Given the description of an element on the screen output the (x, y) to click on. 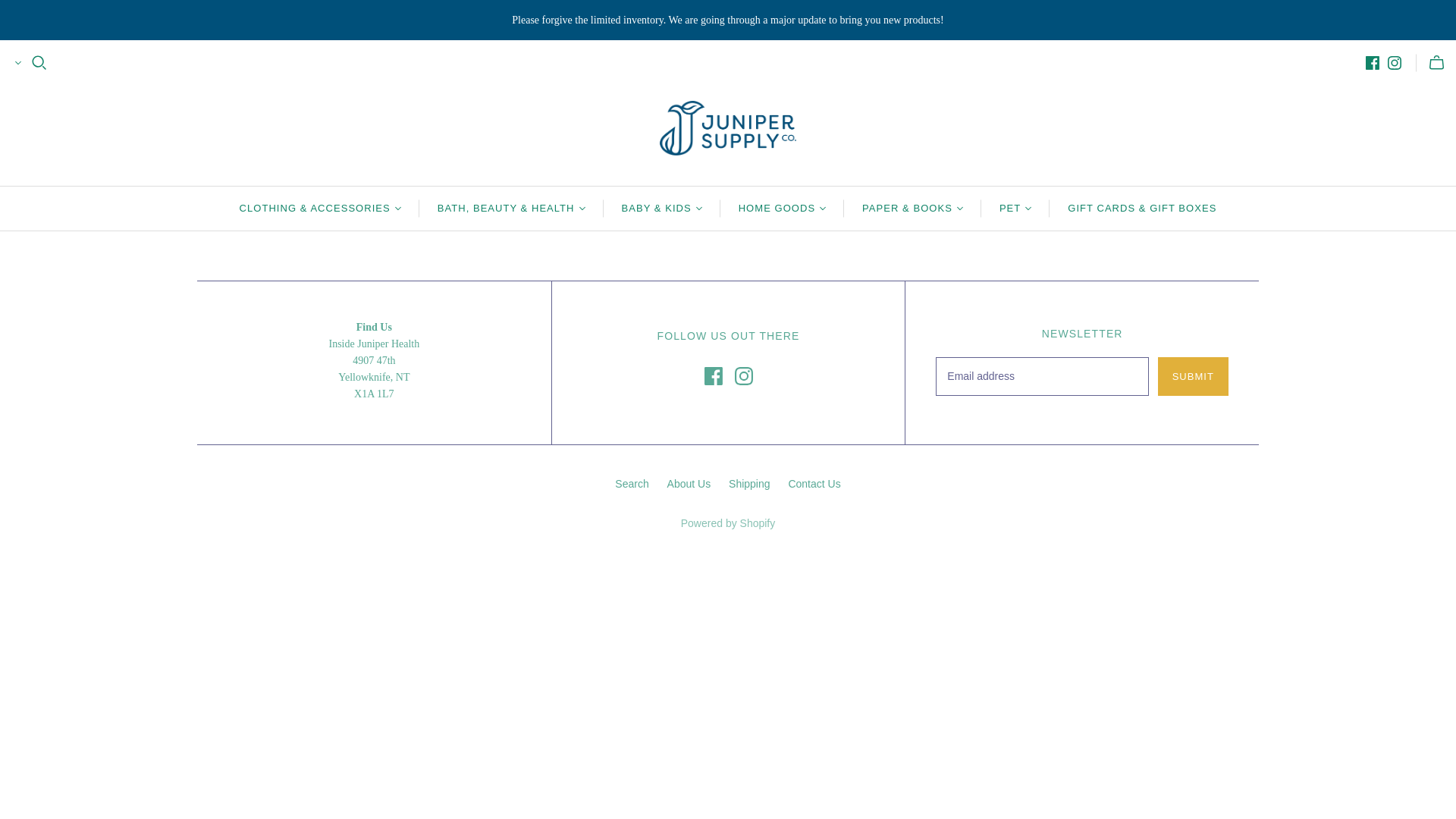
Facebook Icon (712, 375)
Submit (1192, 376)
Instagram Icon (742, 375)
